Given the description of an element on the screen output the (x, y) to click on. 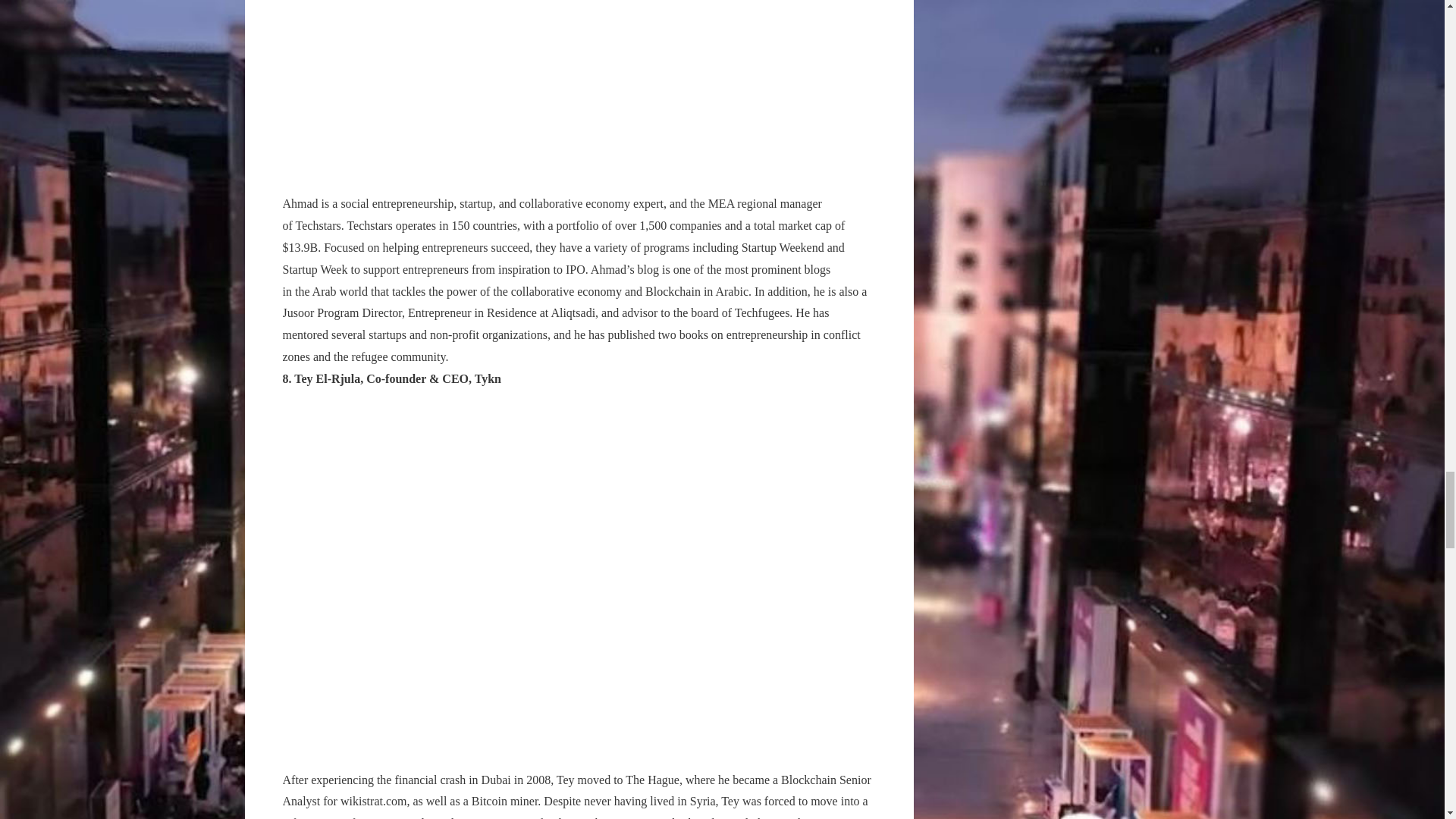
Tey El-Rjula (326, 378)
wikistrat.com (373, 800)
